Given the description of an element on the screen output the (x, y) to click on. 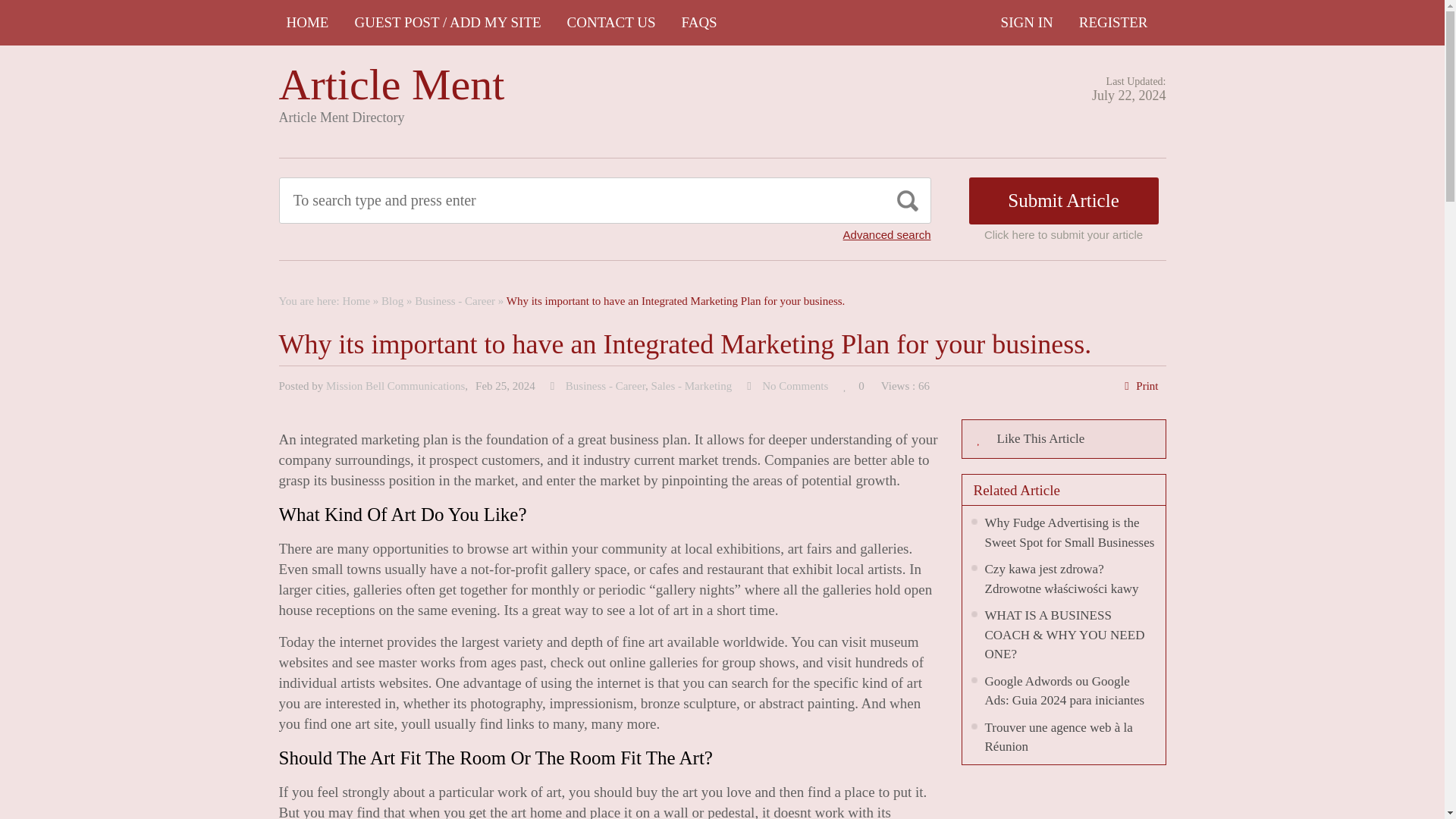
REGISTER (1113, 22)
Advanced search (887, 234)
Blog (392, 300)
HOME (307, 22)
Print (1146, 386)
Business - Career (605, 386)
Like This Article (1063, 438)
No Comments (794, 386)
Sales - Marketing (691, 386)
FAQS (699, 22)
Mission Bell Communications (395, 386)
Home (355, 300)
Business - Career (454, 300)
